Given the description of an element on the screen output the (x, y) to click on. 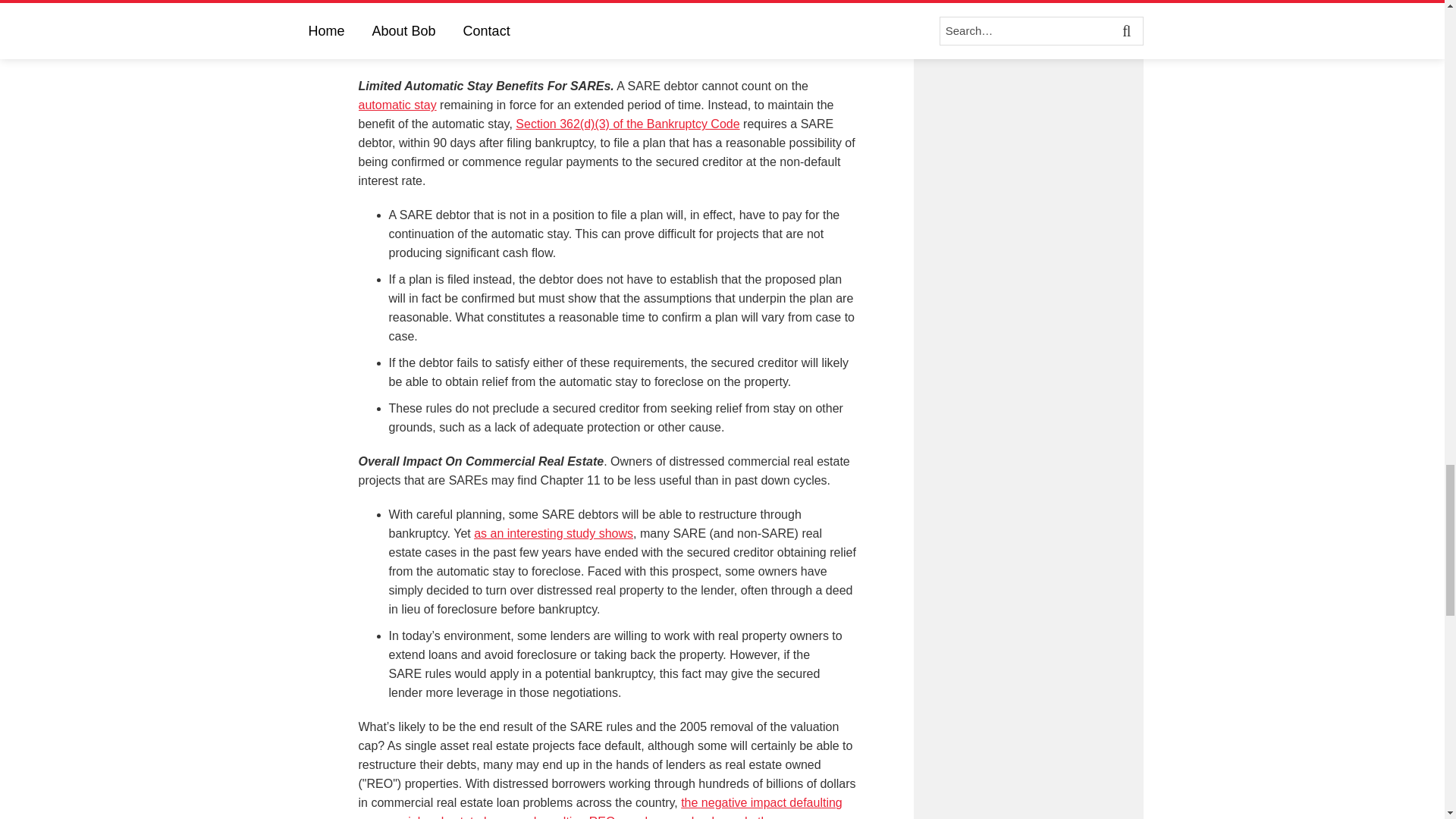
as an interesting study shows (553, 533)
automatic stay (396, 104)
